Given the description of an element on the screen output the (x, y) to click on. 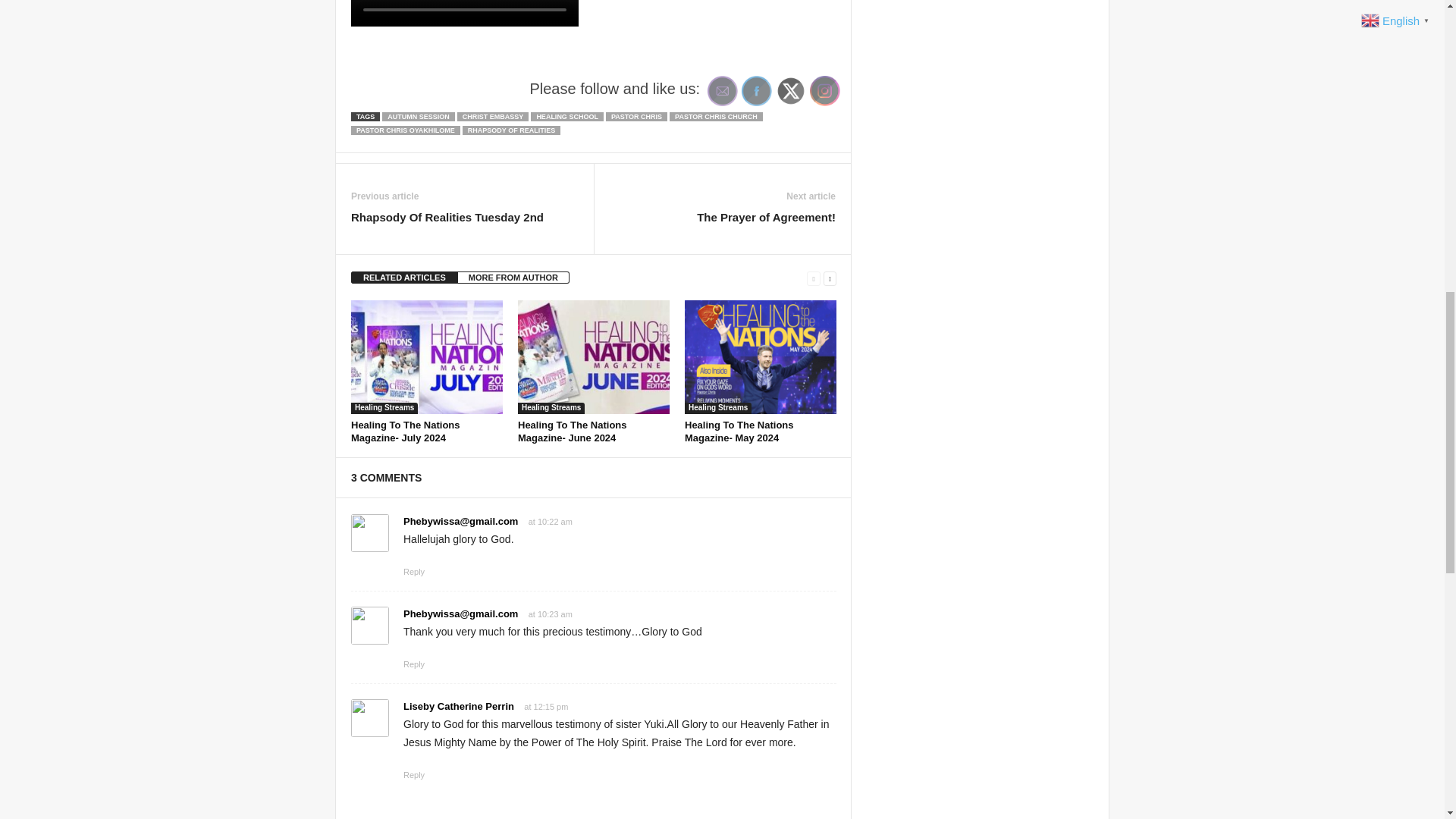
FACEBOOK (756, 91)
INSTAGRAM (824, 91)
EMAIL (722, 91)
TWITTER (791, 91)
Healing To The Nations Magazine- July 2024 (426, 357)
